Given the description of an element on the screen output the (x, y) to click on. 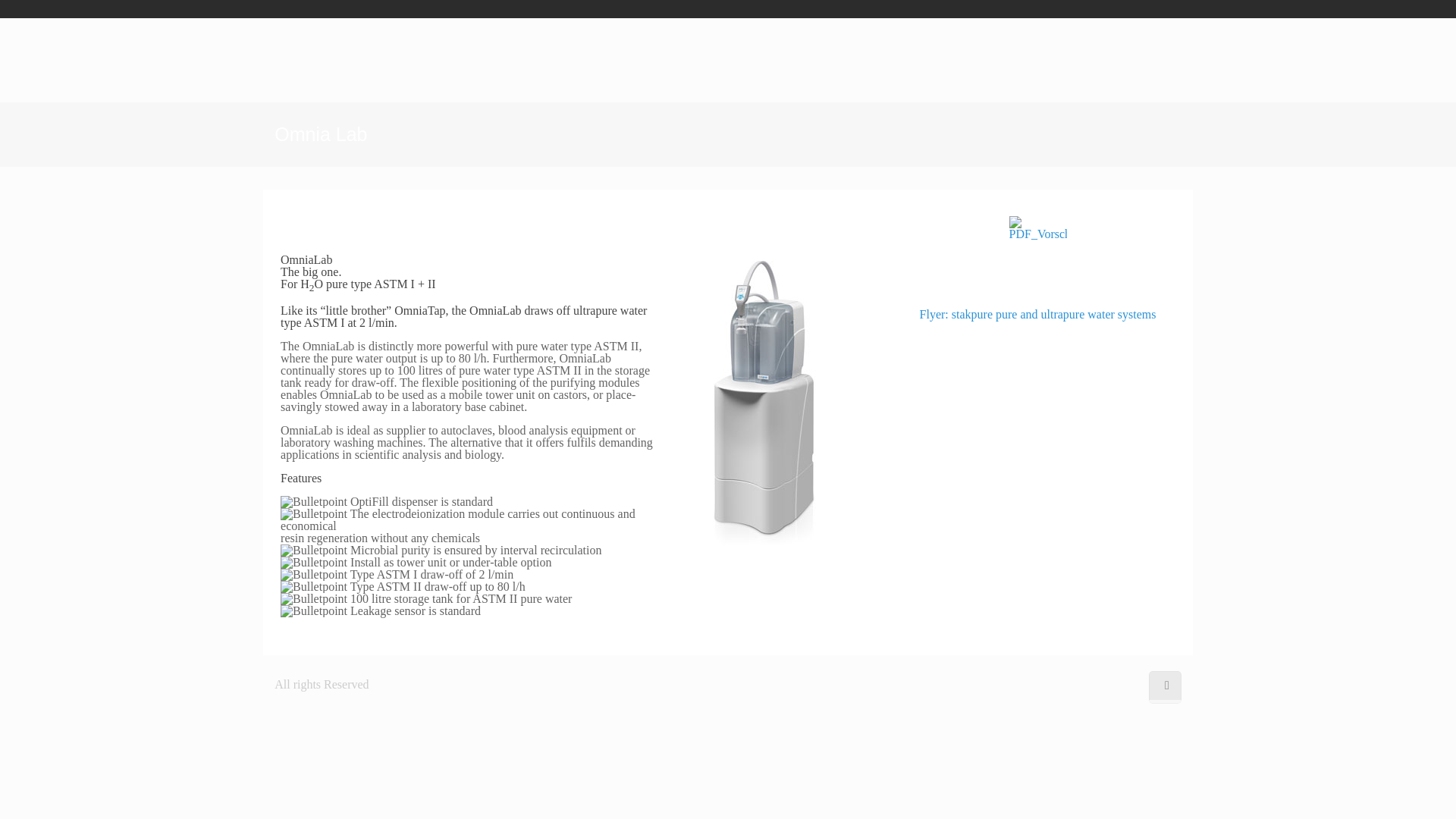
Flyer: stakpure pure and ultrapure water systems (1038, 314)
